Given the description of an element on the screen output the (x, y) to click on. 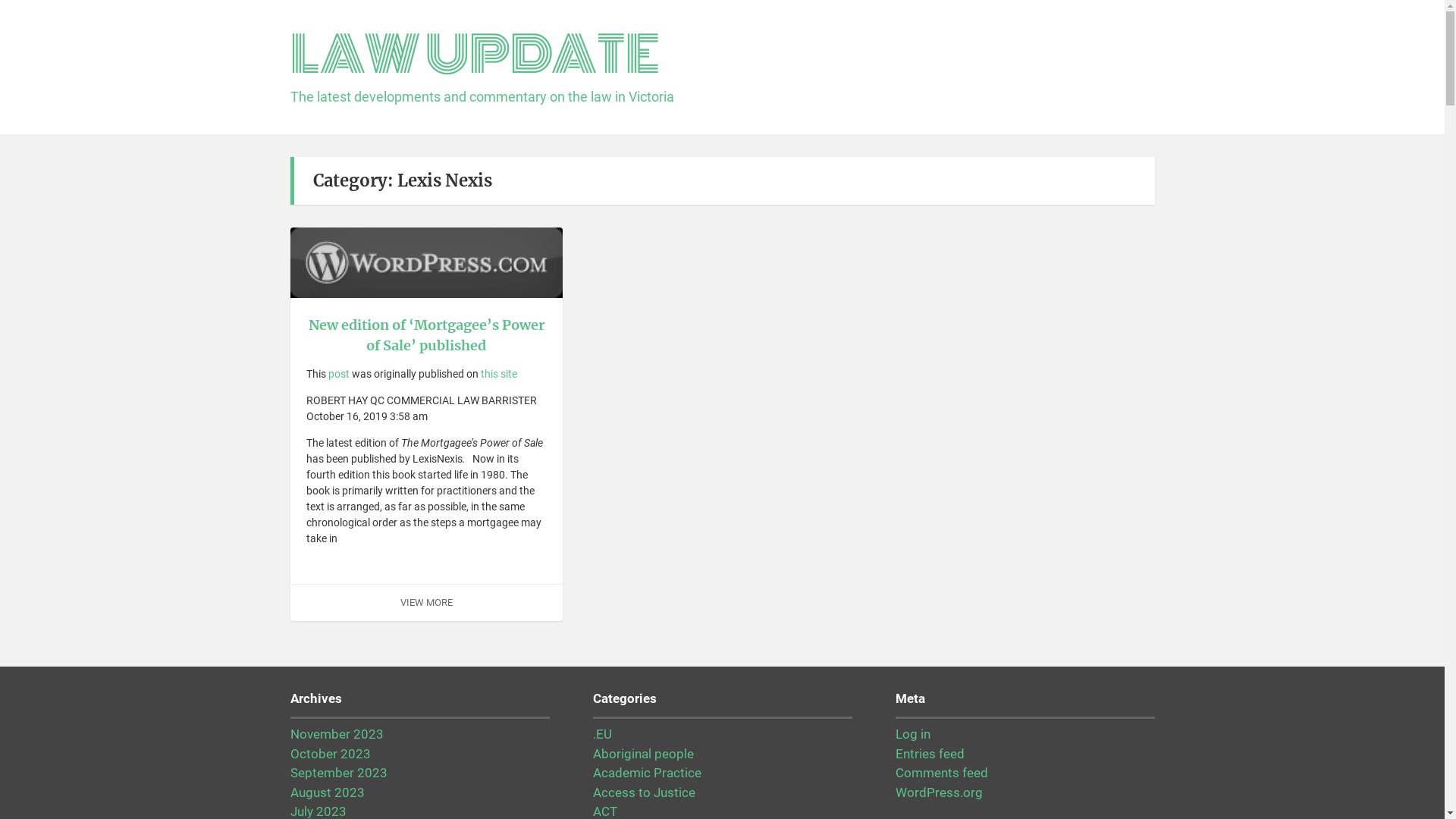
.EU Element type: text (602, 733)
post Element type: text (338, 373)
Aboriginal people Element type: text (643, 753)
LAW UPDATE Element type: text (473, 54)
Entries feed Element type: text (928, 753)
Log in Element type: text (911, 733)
WordPress.org Element type: text (938, 792)
August 2023 Element type: text (326, 792)
Academic Practice Element type: text (647, 772)
October 2023 Element type: text (329, 753)
Access to Justice Element type: text (644, 792)
Comments feed Element type: text (940, 772)
VIEW MORE Element type: text (425, 602)
September 2023 Element type: text (337, 772)
this site Element type: text (498, 373)
November 2023 Element type: text (335, 733)
Skip to content Element type: text (0, 0)
